Given the description of an element on the screen output the (x, y) to click on. 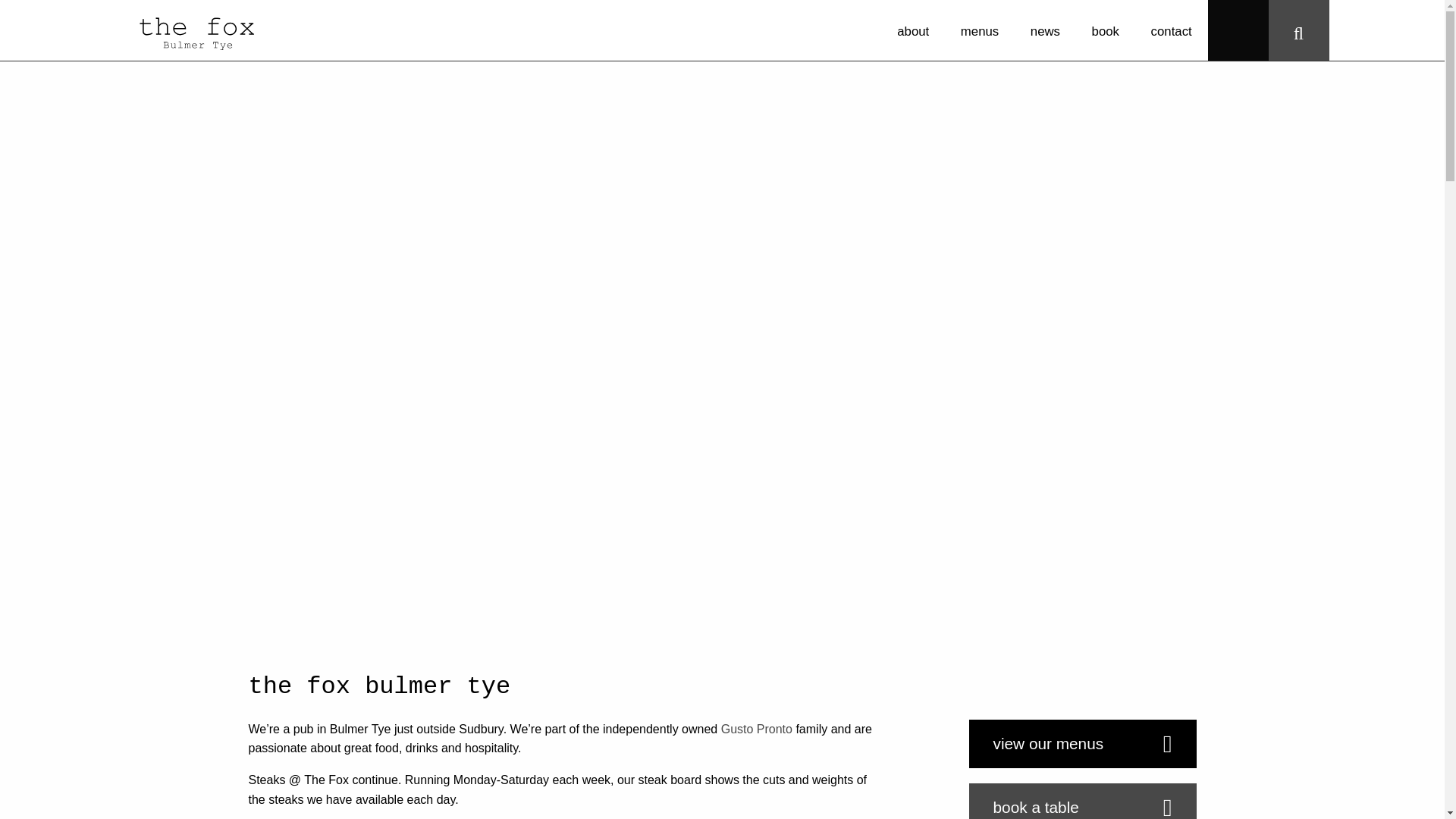
about (912, 30)
news (1044, 30)
contact (1171, 30)
book (1105, 30)
menus (979, 30)
